Given the description of an element on the screen output the (x, y) to click on. 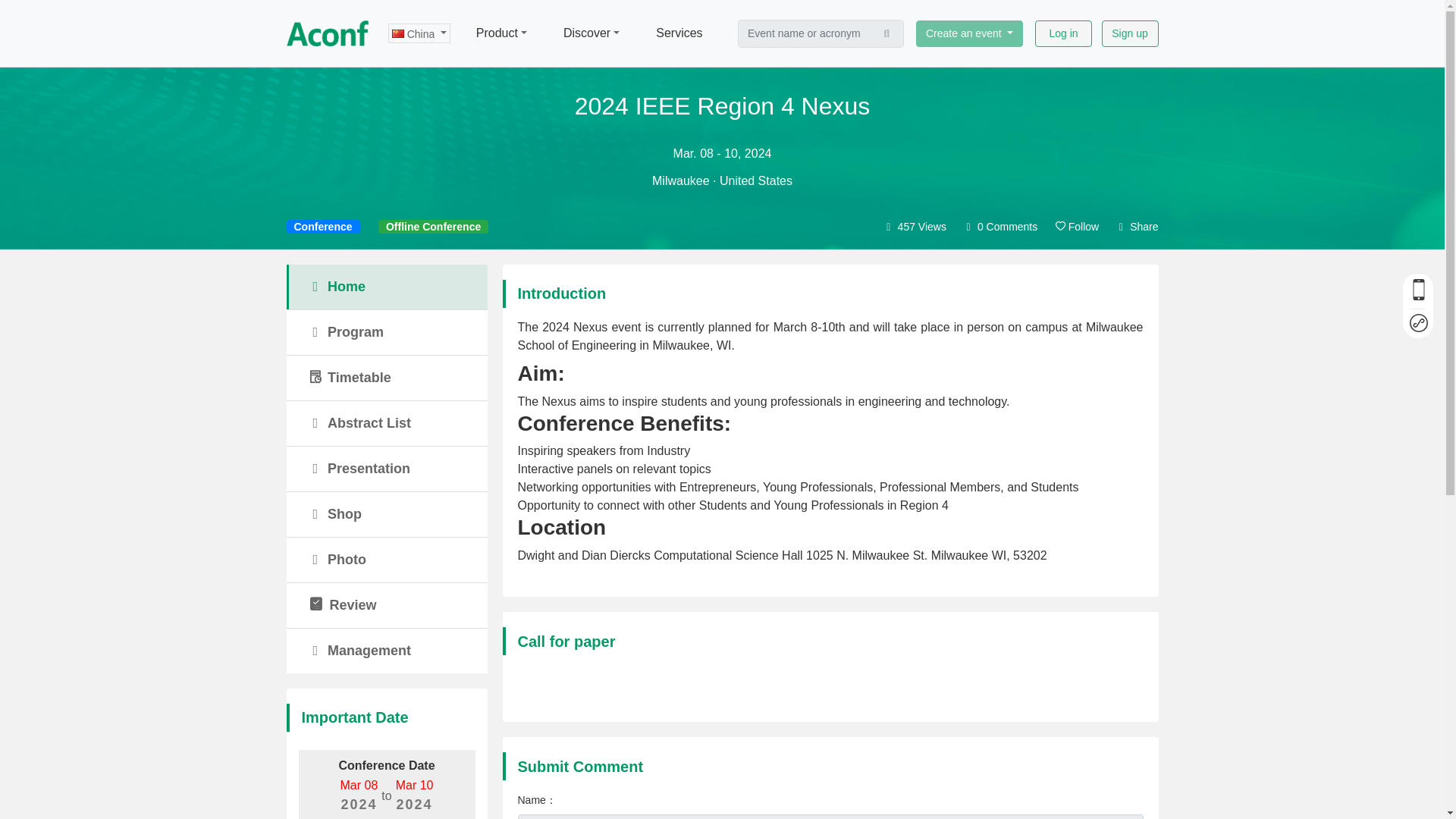
China (418, 32)
